Given the description of an element on the screen output the (x, y) to click on. 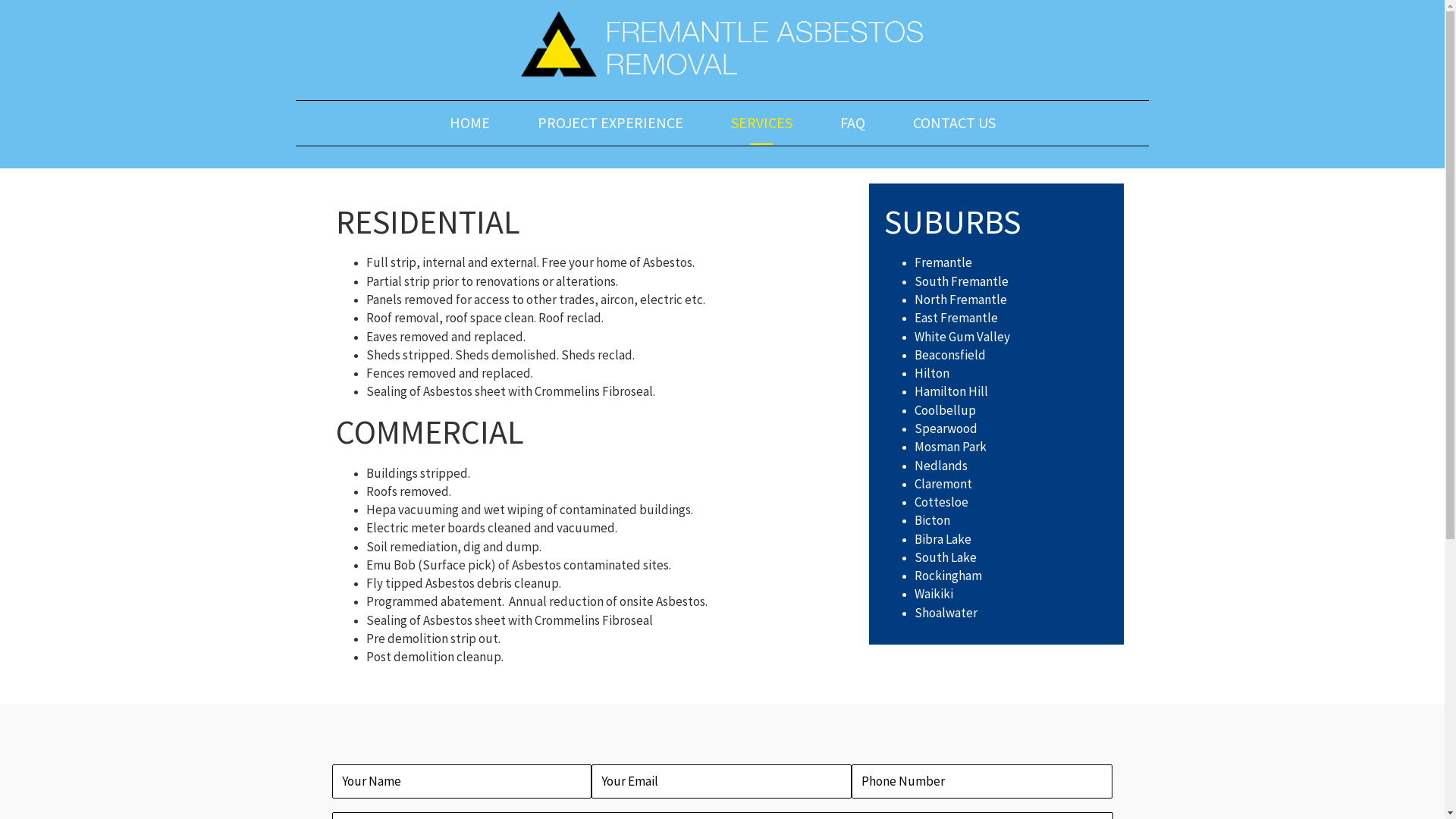
FAQ Element type: text (852, 122)
HOME Element type: text (468, 122)
SERVICES Element type: text (761, 122)
PROJECT EXPERIENCE Element type: text (609, 122)
CONTACT US Element type: text (954, 122)
